Given the description of an element on the screen output the (x, y) to click on. 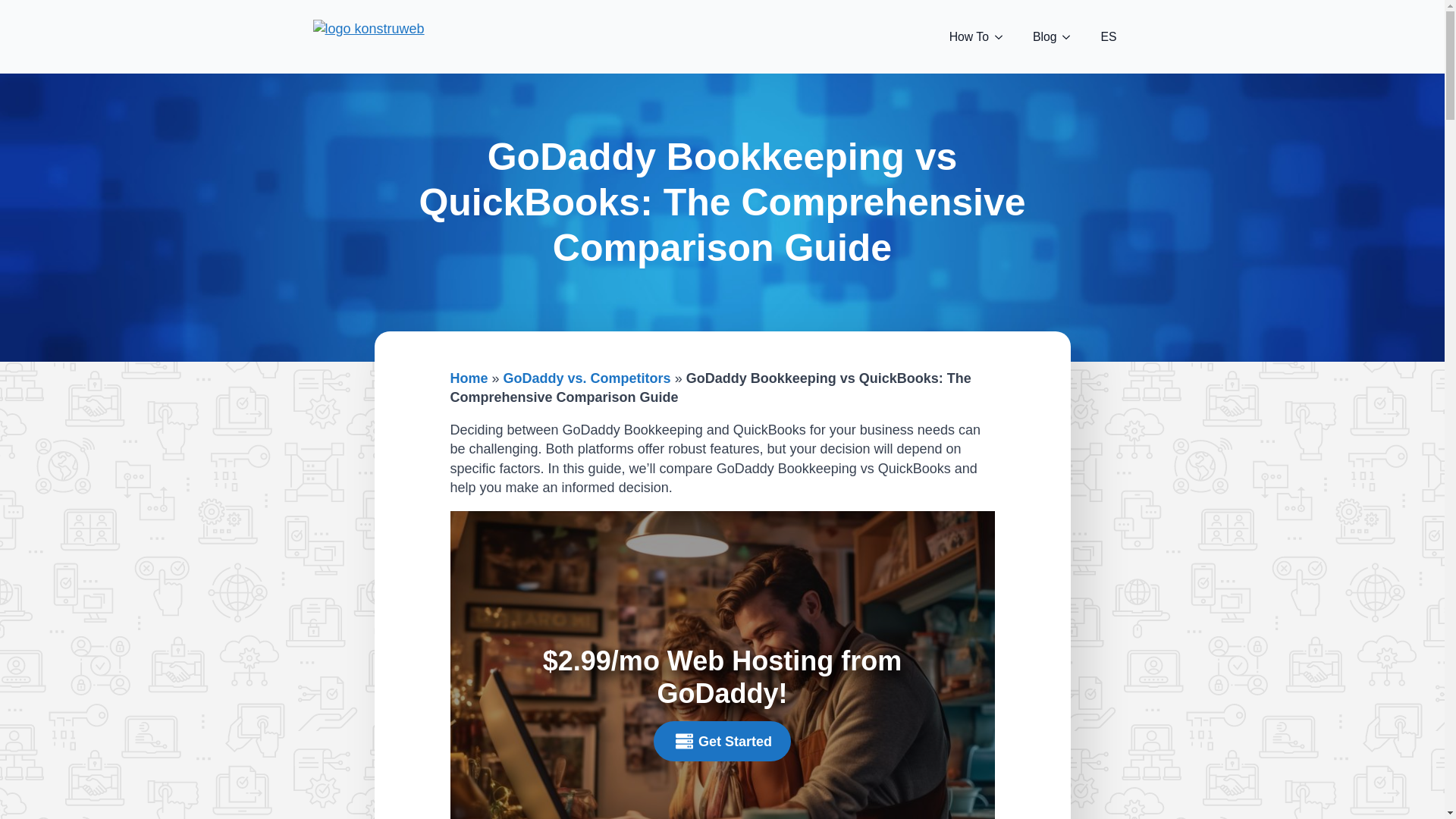
How To (961, 36)
Home (468, 378)
ES (1107, 36)
Get Started (721, 741)
GoDaddy vs. Competitors (587, 378)
Blog (1037, 36)
